Given the description of an element on the screen output the (x, y) to click on. 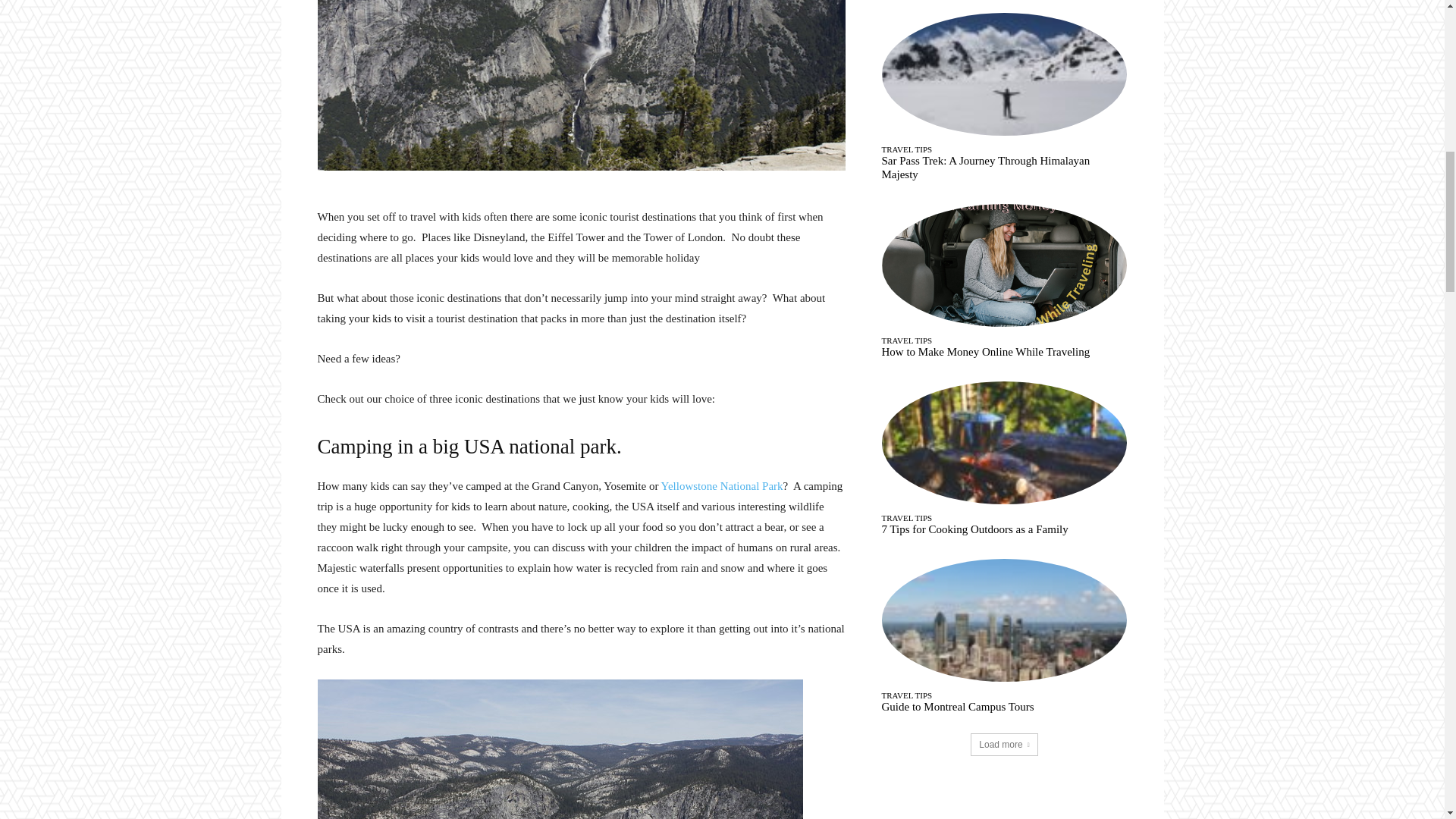
Yosemite by akasped, on Flickr (580, 749)
